Given the description of an element on the screen output the (x, y) to click on. 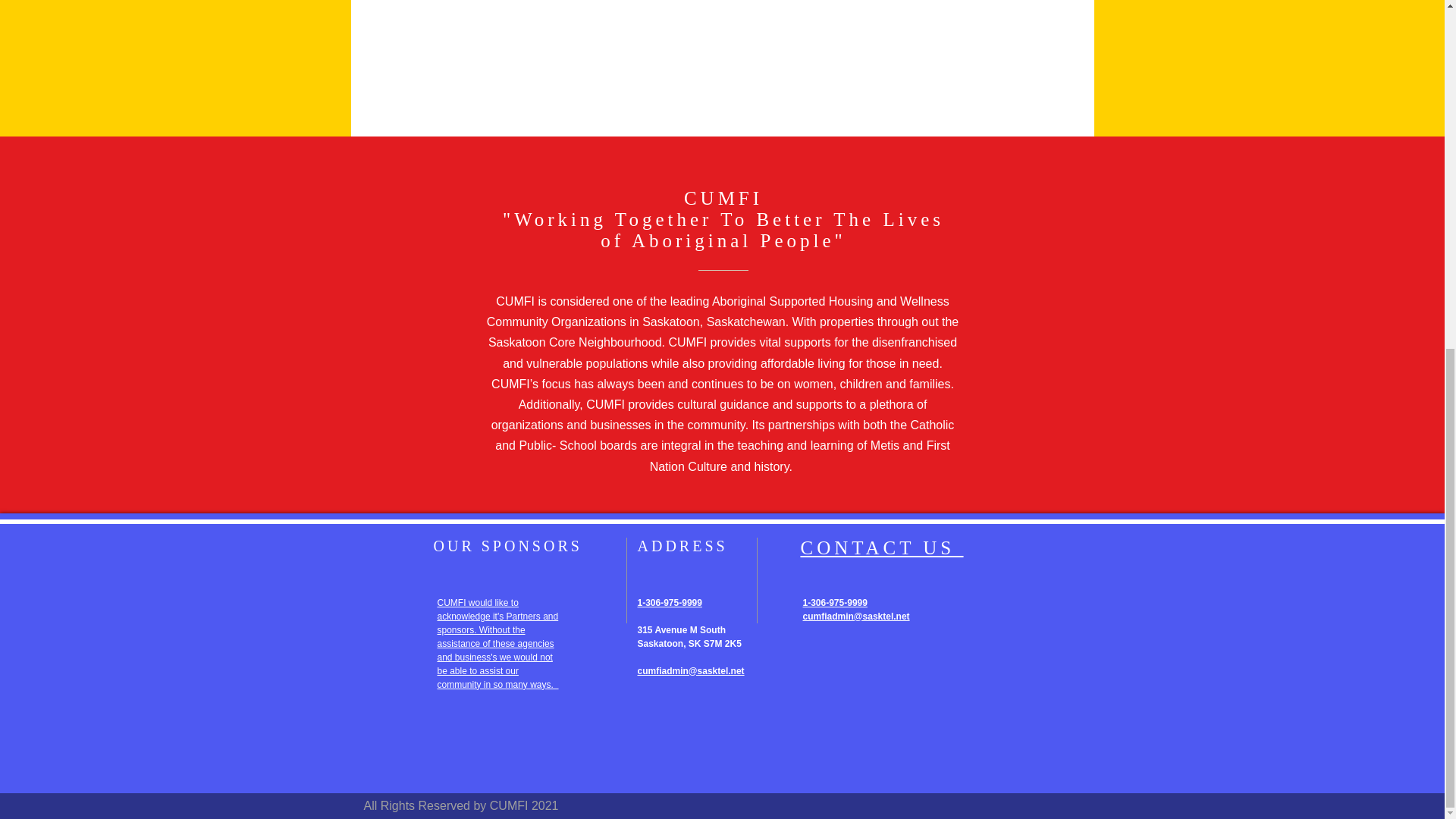
CONTACT US  (880, 547)
1-306-975-9999 (669, 602)
1-306-975-9999 (834, 602)
